Given the description of an element on the screen output the (x, y) to click on. 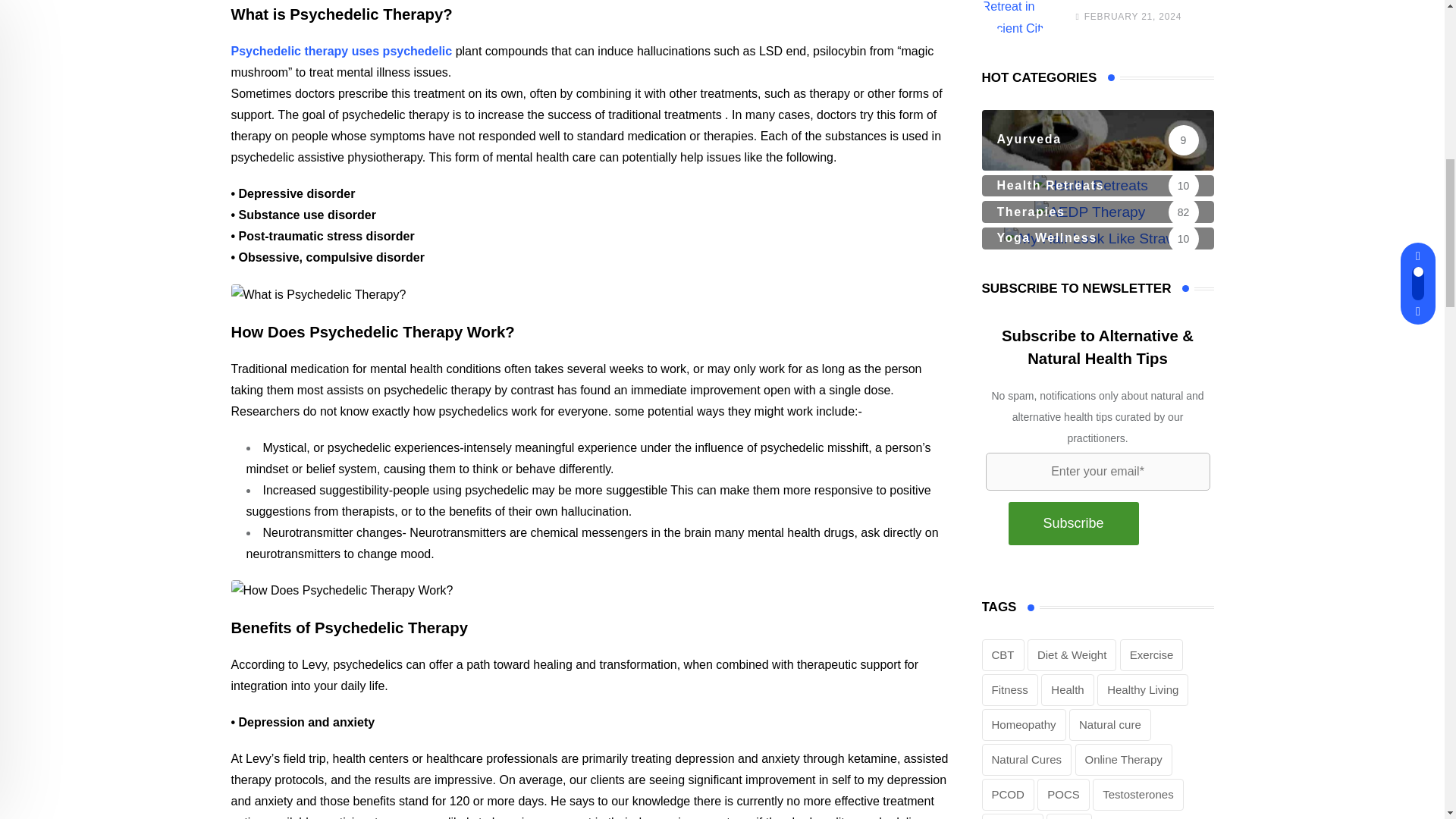
5 Potential Health Benefits of Psychedelic Therapy 2 (318, 294)
Subscribe (1073, 524)
5 Potential Health Benefits of Psychedelic Therapy 3 (341, 590)
